Given the description of an element on the screen output the (x, y) to click on. 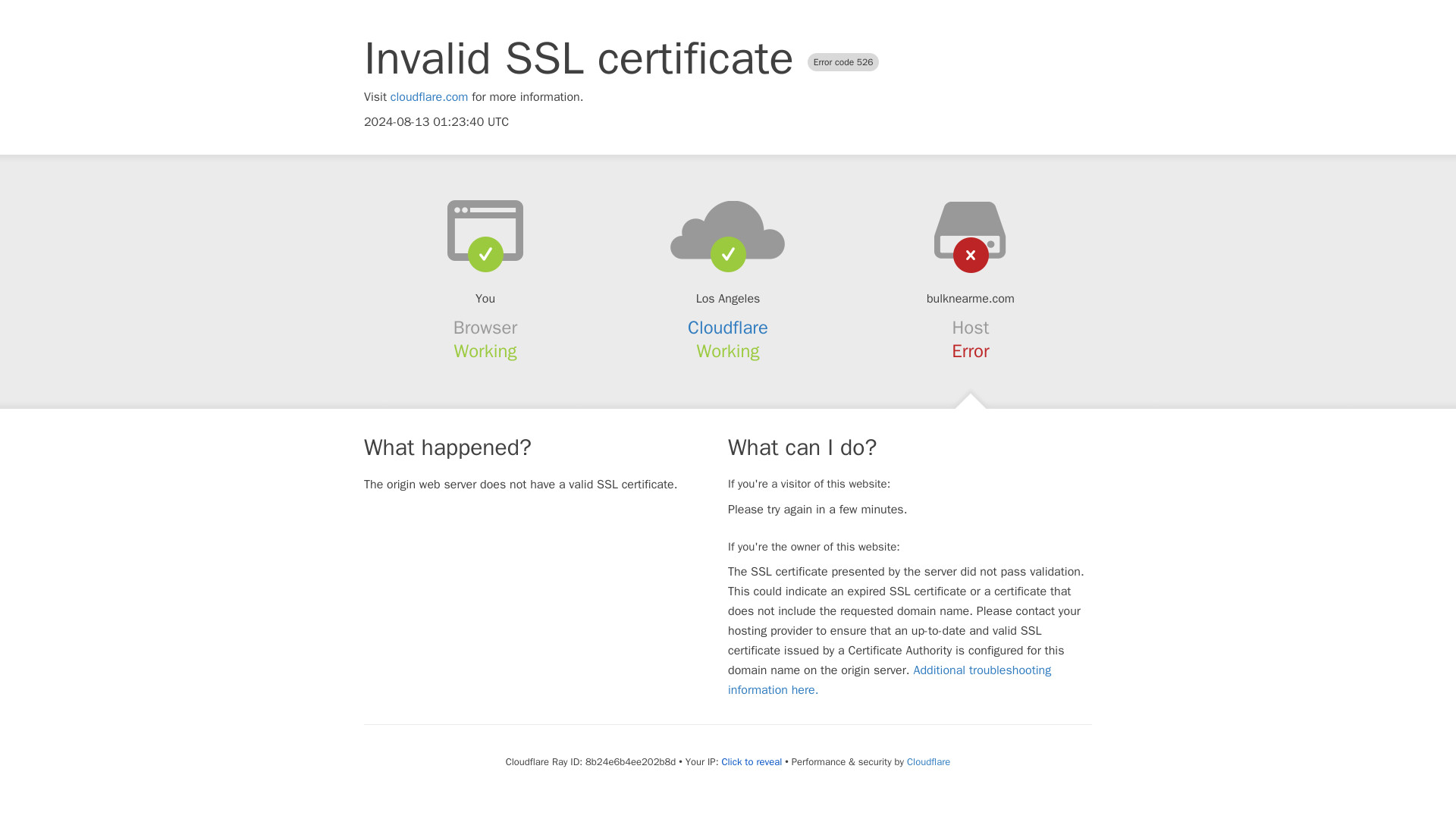
Cloudflare (928, 761)
Click to reveal (750, 762)
cloudflare.com (429, 96)
Additional troubleshooting information here. (889, 679)
Cloudflare (727, 327)
